Given the description of an element on the screen output the (x, y) to click on. 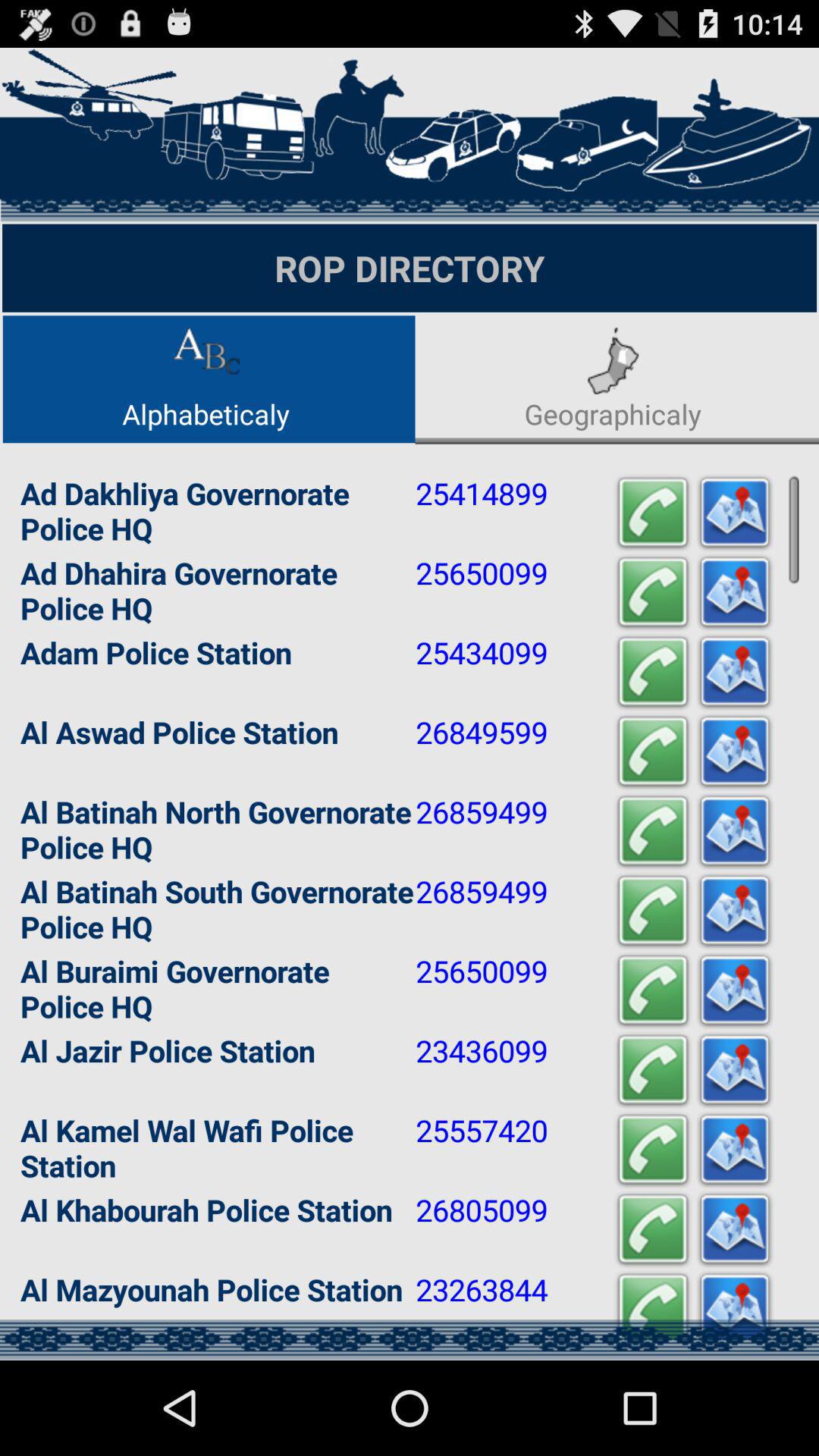
call this number (652, 1309)
